Given the description of an element on the screen output the (x, y) to click on. 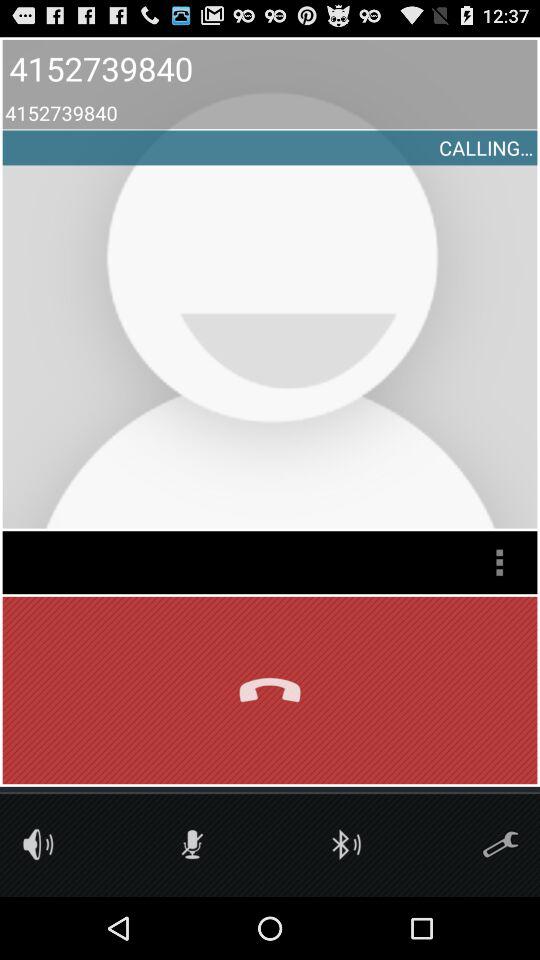
go to settings (500, 844)
